Given the description of an element on the screen output the (x, y) to click on. 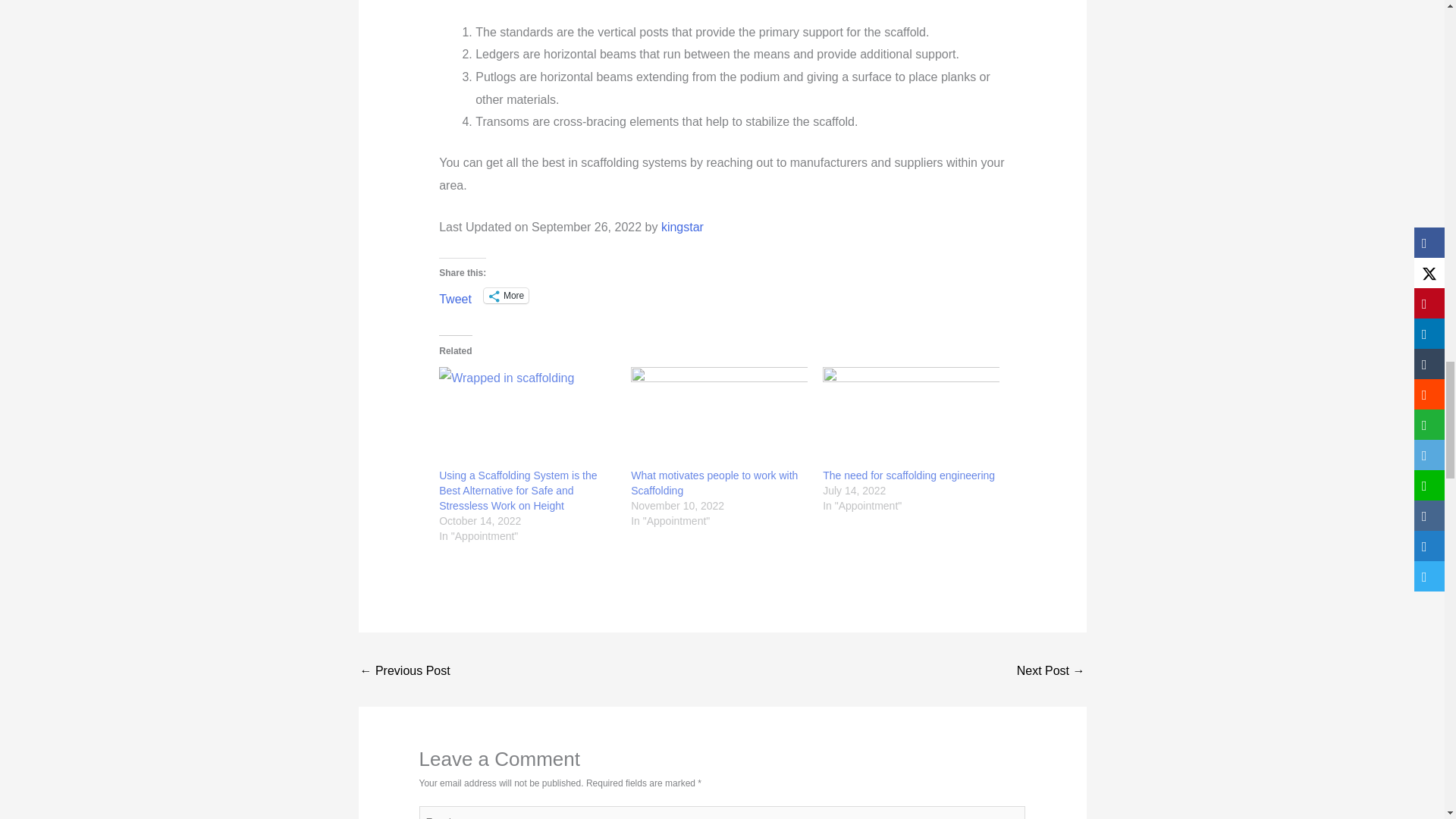
What motivates people to work with Scaffolding (713, 482)
The need for scaffolding engineering (910, 416)
More (505, 295)
The need for scaffolding engineering (908, 475)
kingstar (682, 226)
What motivates people to work with Scaffolding (719, 416)
Tweet (455, 295)
